Given the description of an element on the screen output the (x, y) to click on. 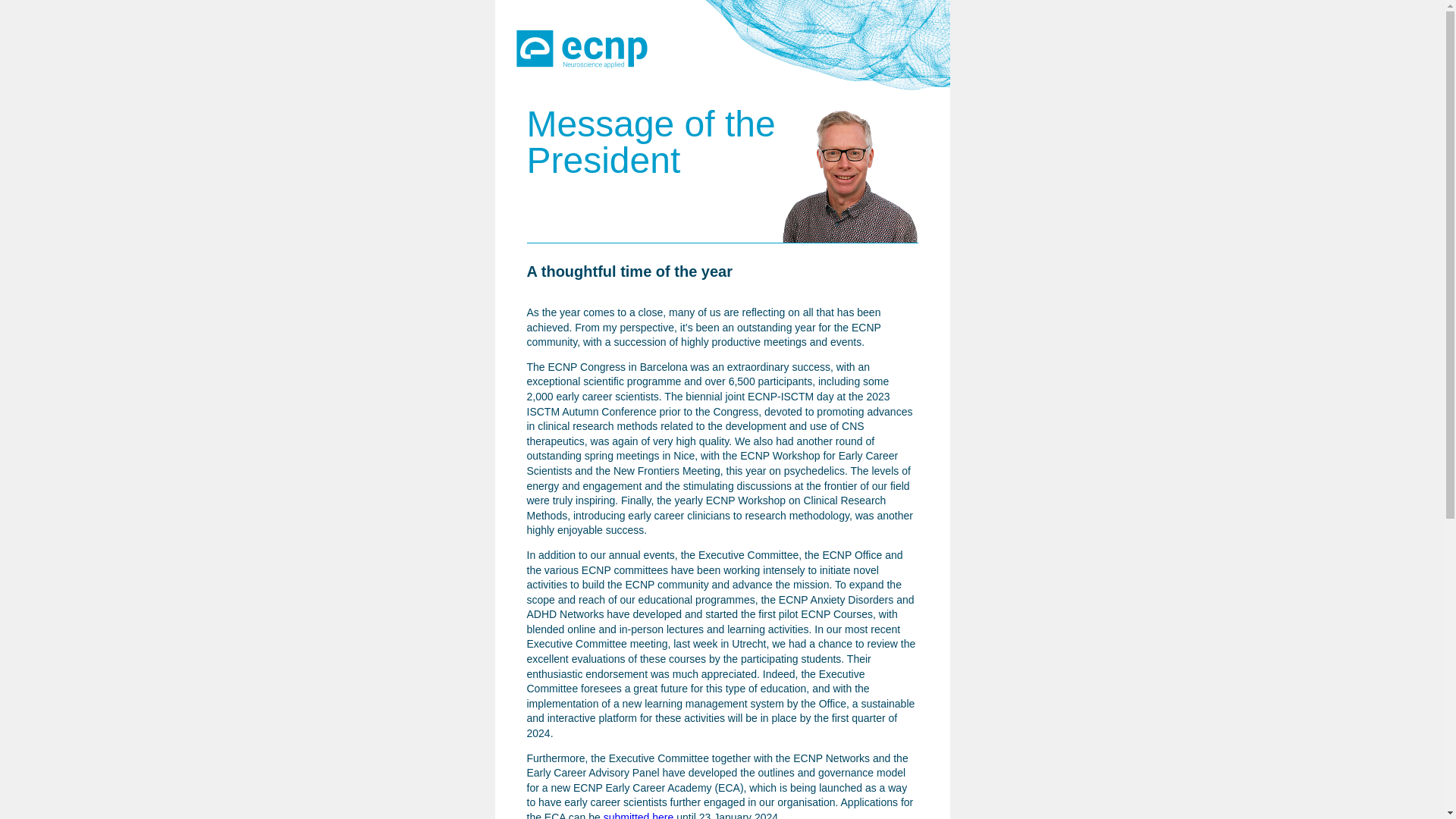
submitted here (639, 815)
